Given the description of an element on the screen output the (x, y) to click on. 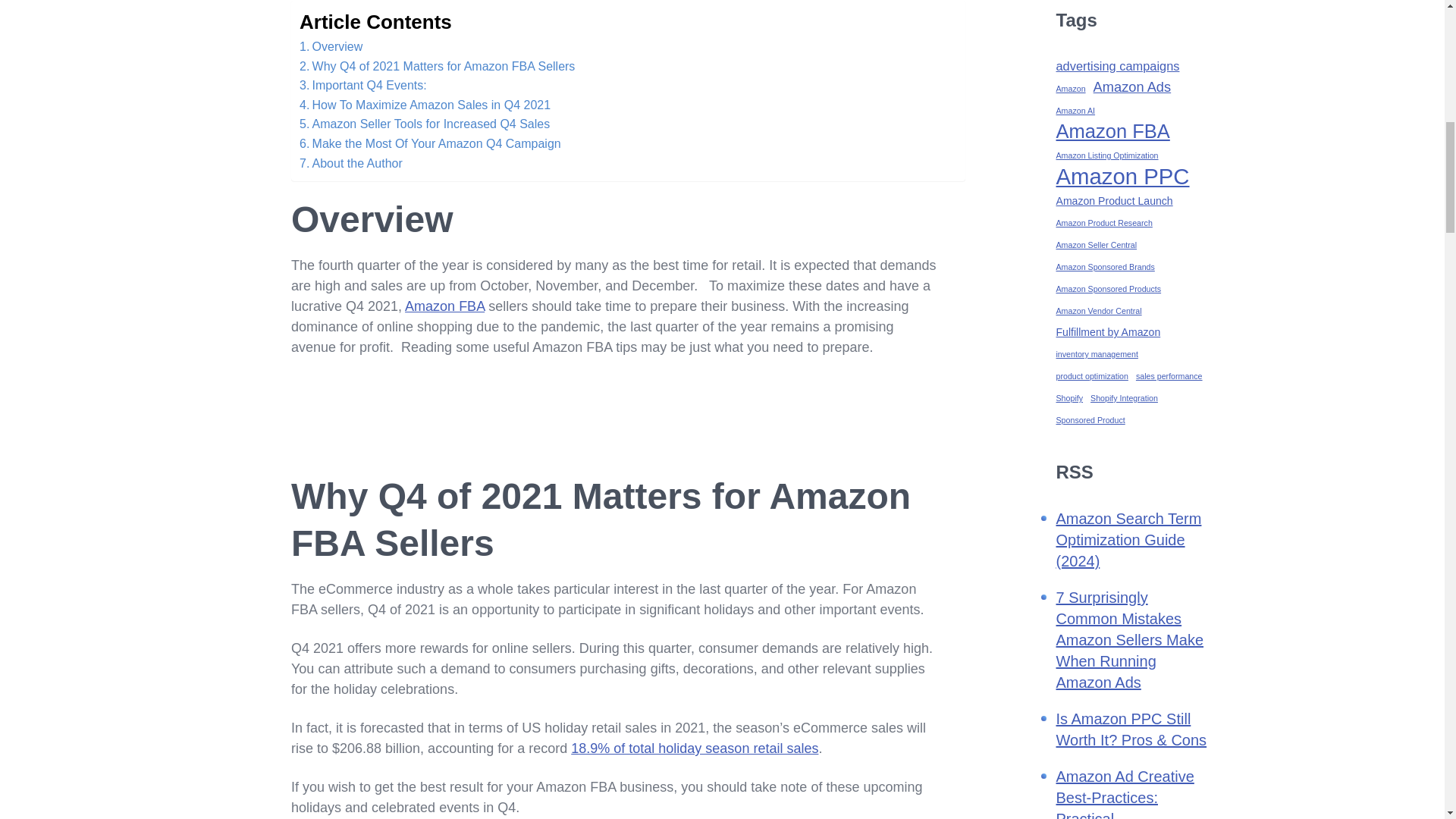
Important Q4 Events: (362, 85)
Amazon FBA (444, 305)
Overview (330, 46)
About the Author (351, 163)
Make the Most Of Your Amazon Q4 Campaign (429, 143)
How To Maximize Amazon Sales in Q4 2021 (424, 105)
Why Q4 of 2021 Matters for Amazon FBA Sellers   (439, 66)
Important Q4 Events: (362, 85)
Make the Most Of Your Amazon Q4 Campaign (429, 143)
